Given the description of an element on the screen output the (x, y) to click on. 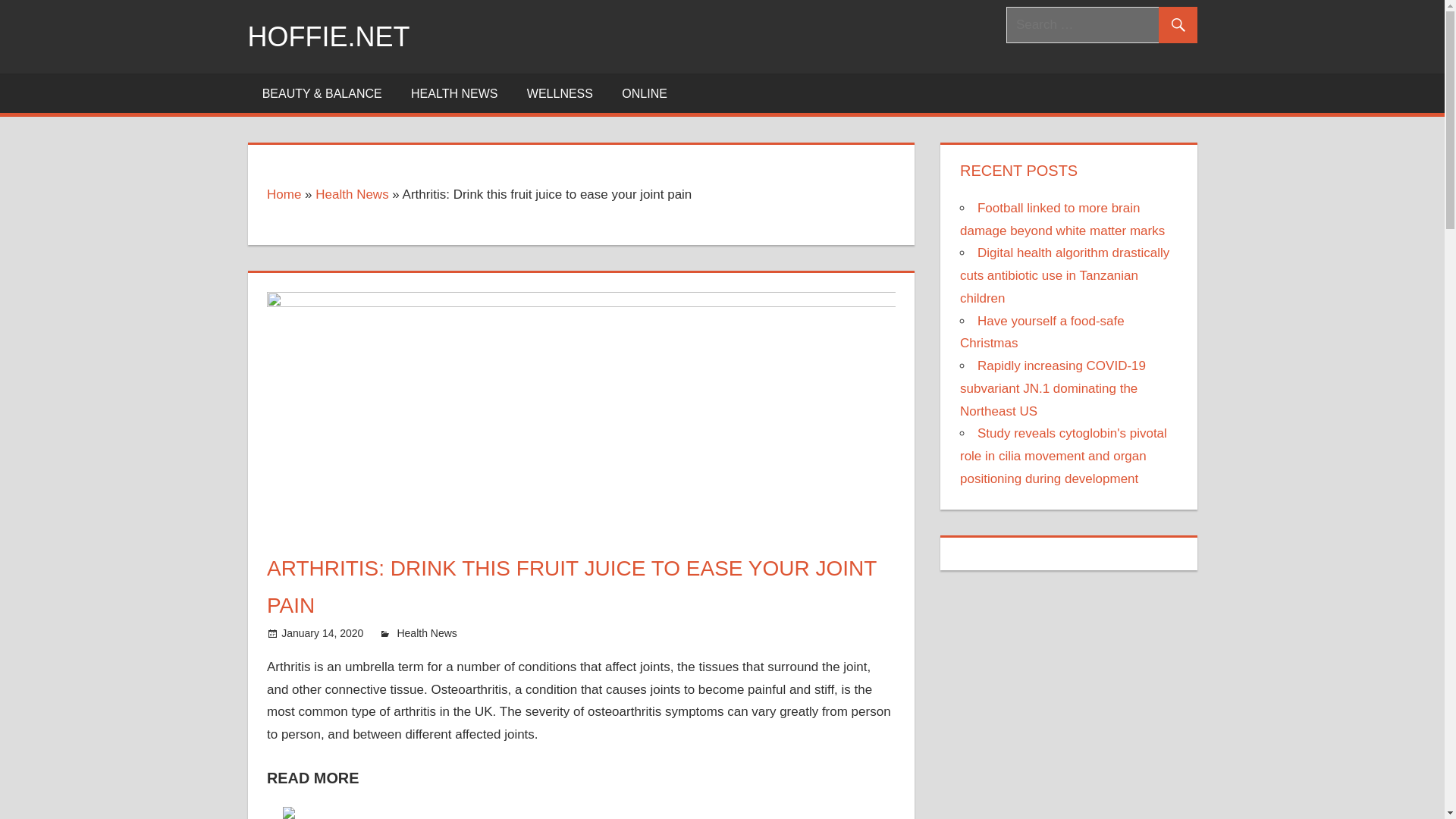
16:05 (321, 633)
Health News (351, 194)
ONLINE (644, 93)
HEALTH NEWS (454, 93)
Search for: (1101, 24)
HOFFIE.NET (328, 36)
Have yourself a food-safe Christmas (1041, 332)
